Given the description of an element on the screen output the (x, y) to click on. 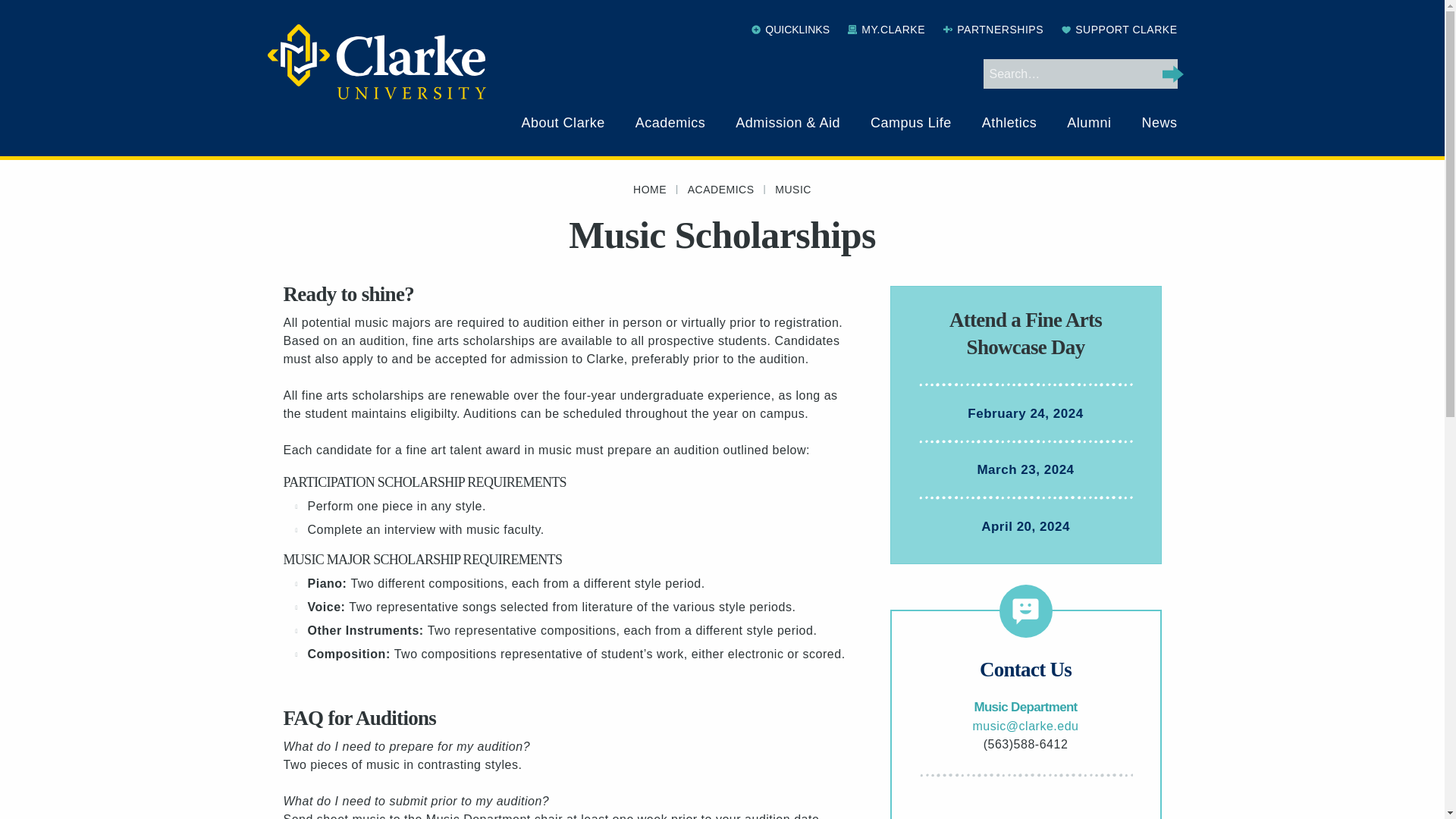
Campus Life (911, 122)
search (1171, 74)
About Clarke (563, 122)
MY.CLARKE (885, 29)
SUPPORT CLARKE (1118, 29)
Search (1171, 74)
PARTNERSHIPS (993, 29)
Academics (670, 122)
QUICKLINKS (790, 29)
